Given the description of an element on the screen output the (x, y) to click on. 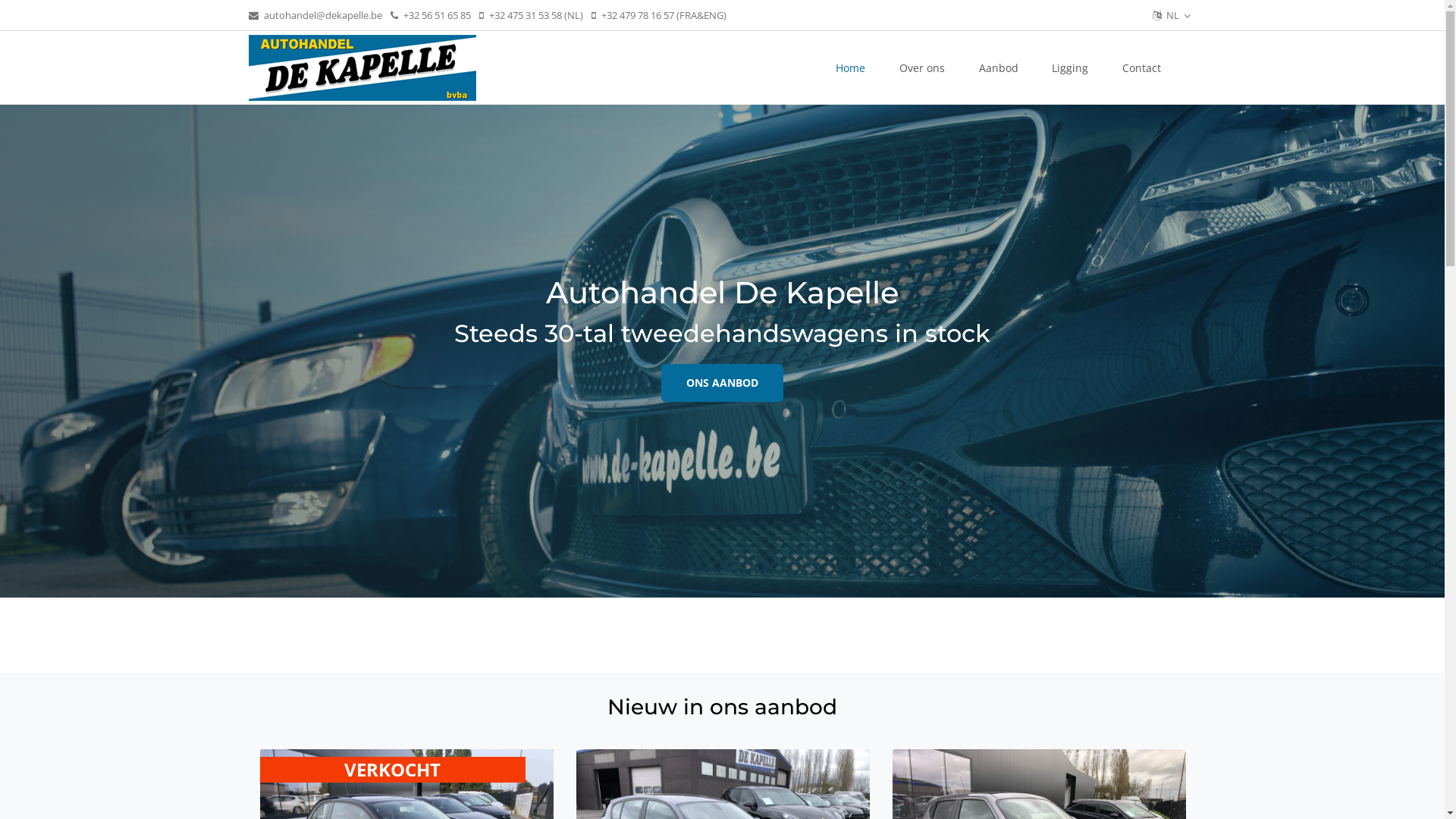
Contact Element type: text (1141, 67)
Home Element type: text (850, 67)
+32 479 78 16 57 (FRA&ENG) Element type: text (658, 14)
Ligging Element type: text (1070, 67)
Over ons Element type: text (921, 67)
autohandel@dekapelle.be Element type: text (315, 14)
+32 475 31 53 58 (NL) Element type: text (531, 14)
ONS AANBOD Element type: text (722, 382)
NL Element type: text (1168, 15)
Aanbod Element type: text (998, 67)
+32 56 51 65 85 Element type: text (429, 14)
